Given the description of an element on the screen output the (x, y) to click on. 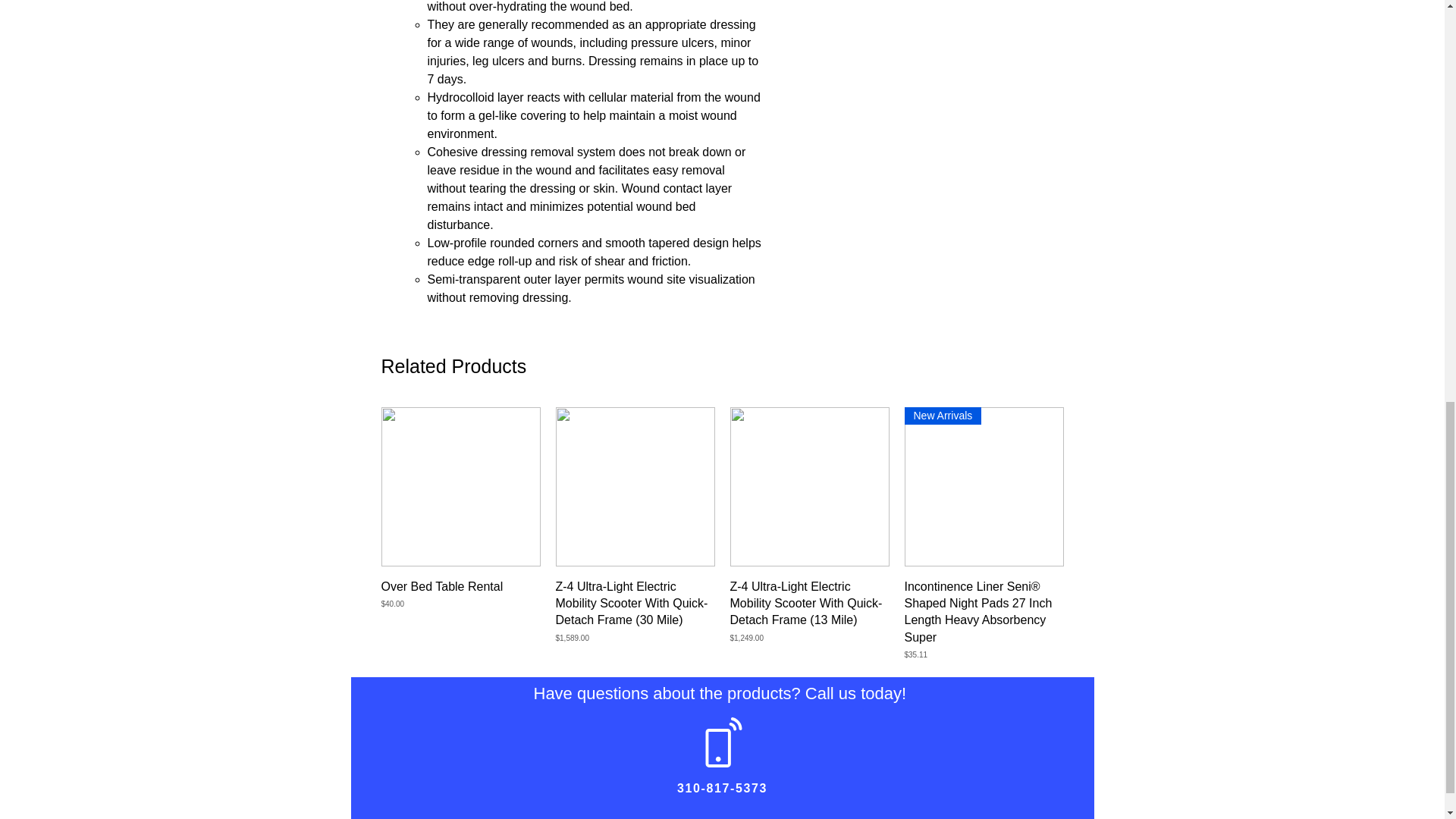
New Arrivals (983, 486)
